Given the description of an element on the screen output the (x, y) to click on. 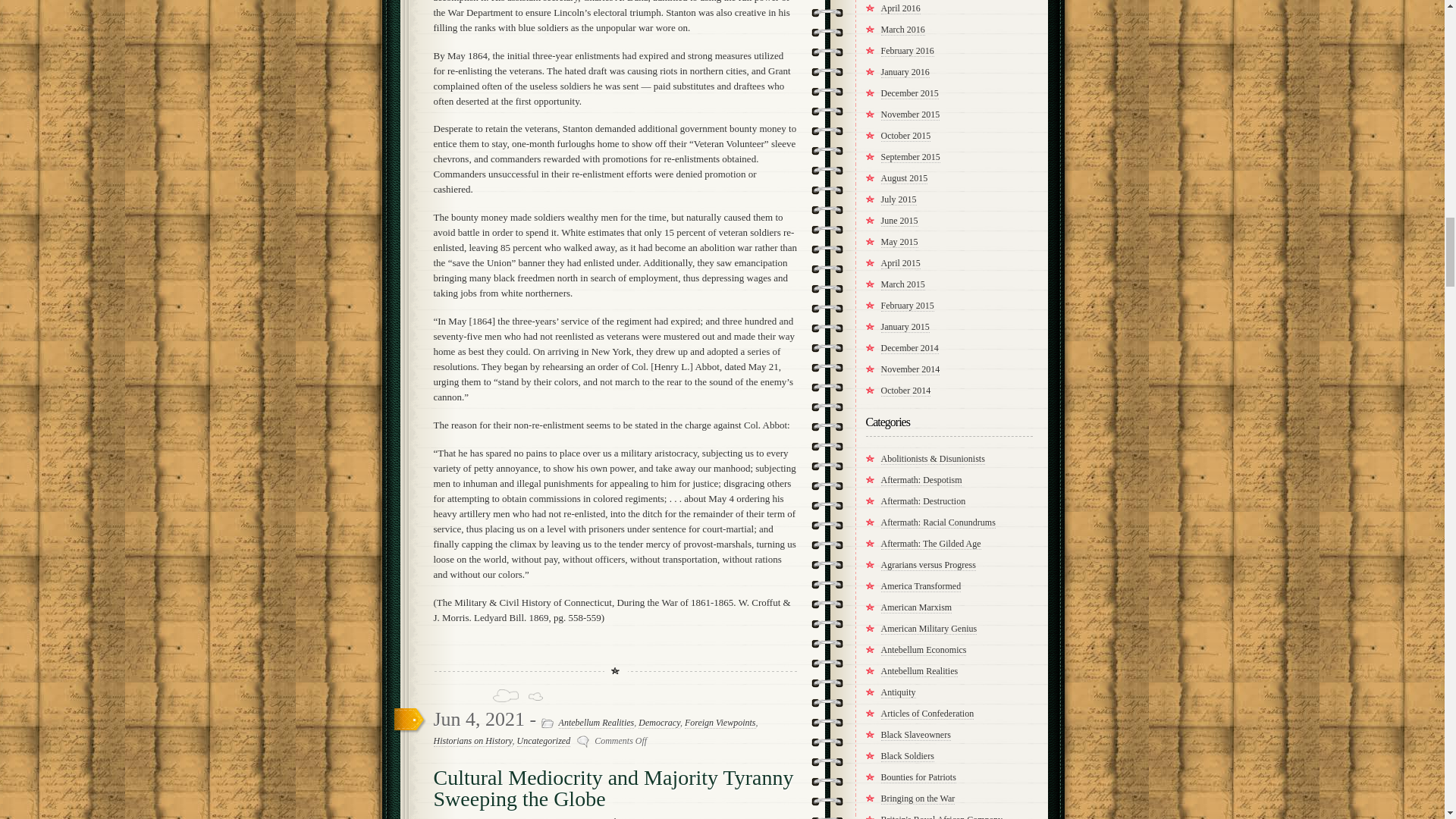
Antebellum Realities (596, 722)
Democracy (659, 722)
Cultural Mediocrity and Majority Tyranny Sweeping the Globe (613, 787)
Foreign Viewpoints (719, 722)
Historians on History (472, 740)
Uncategorized (543, 740)
